Given the description of an element on the screen output the (x, y) to click on. 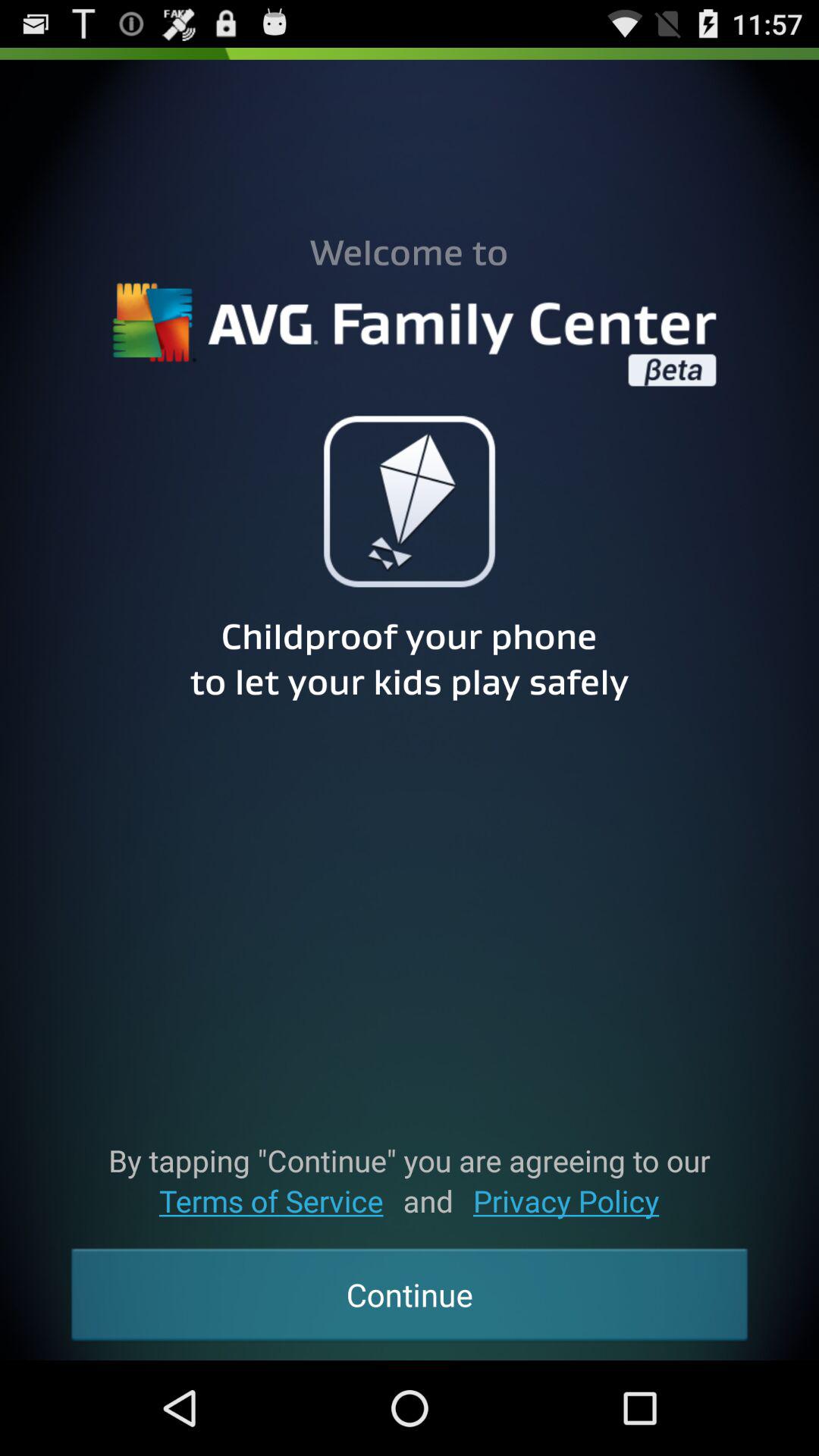
open the icon below the by tapping continue app (566, 1200)
